Given the description of an element on the screen output the (x, y) to click on. 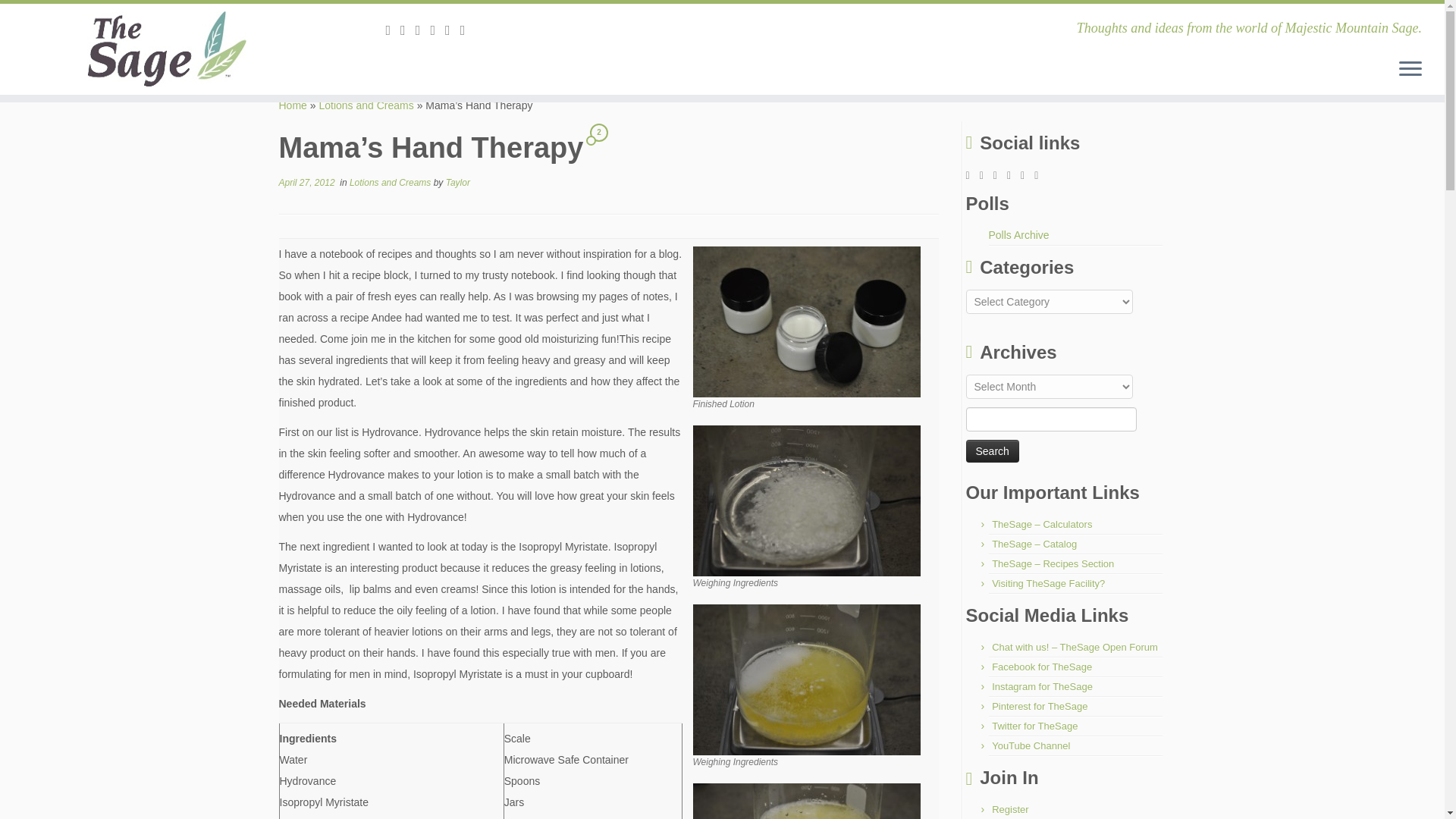
View all posts by Taylor (457, 182)
Follow me on Twitter (422, 29)
E-mail (407, 29)
Taylor (457, 182)
Follow me on Facebook (437, 29)
View all posts in Lotions and Creams (391, 182)
Pin me on Pinterest (468, 29)
Lotions and Creams (365, 105)
Open the menu (1410, 69)
Subscribe to my rss feed (392, 29)
